Given the description of an element on the screen output the (x, y) to click on. 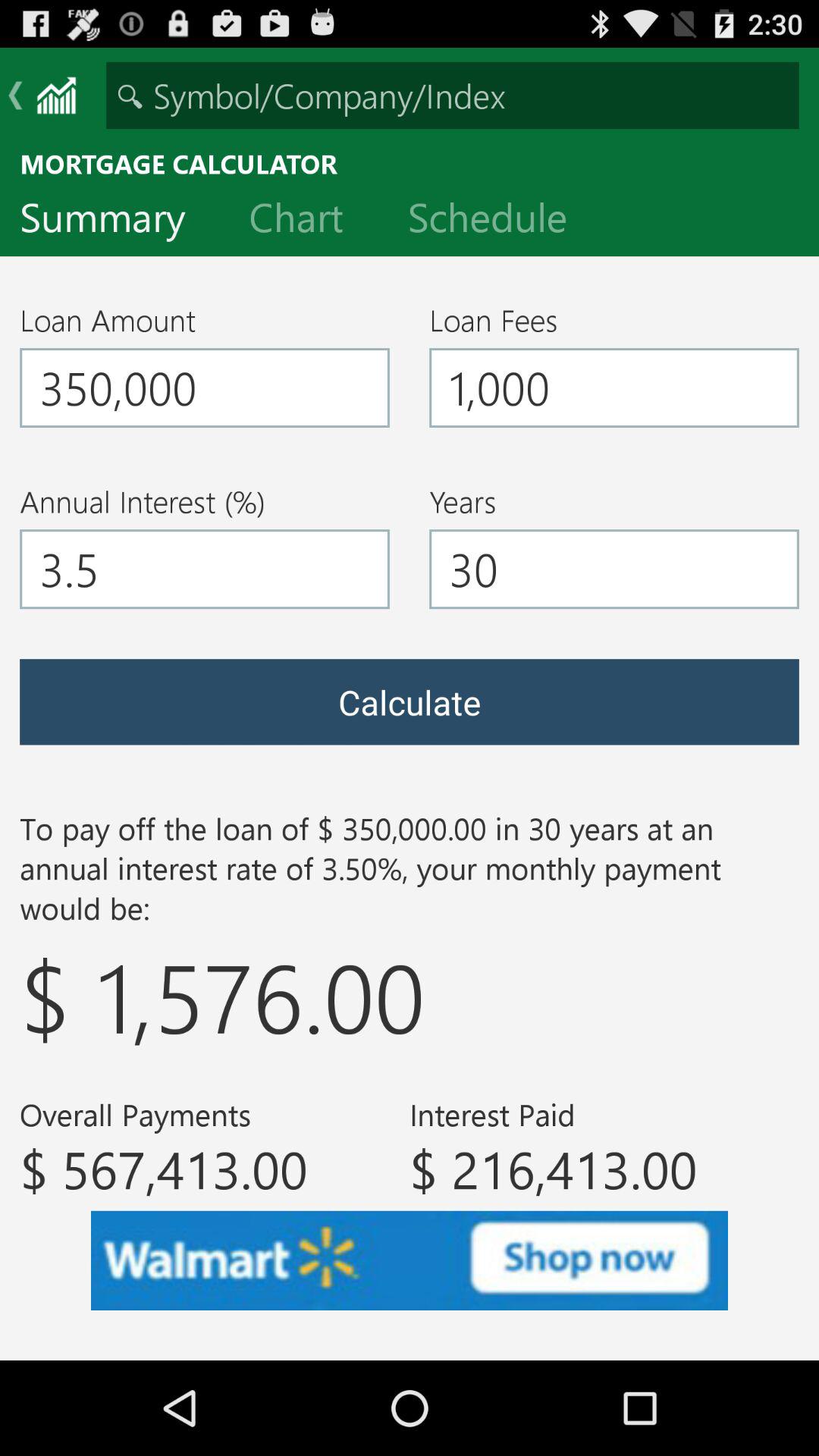
turn on item to the right of summary (308, 220)
